Given the description of an element on the screen output the (x, y) to click on. 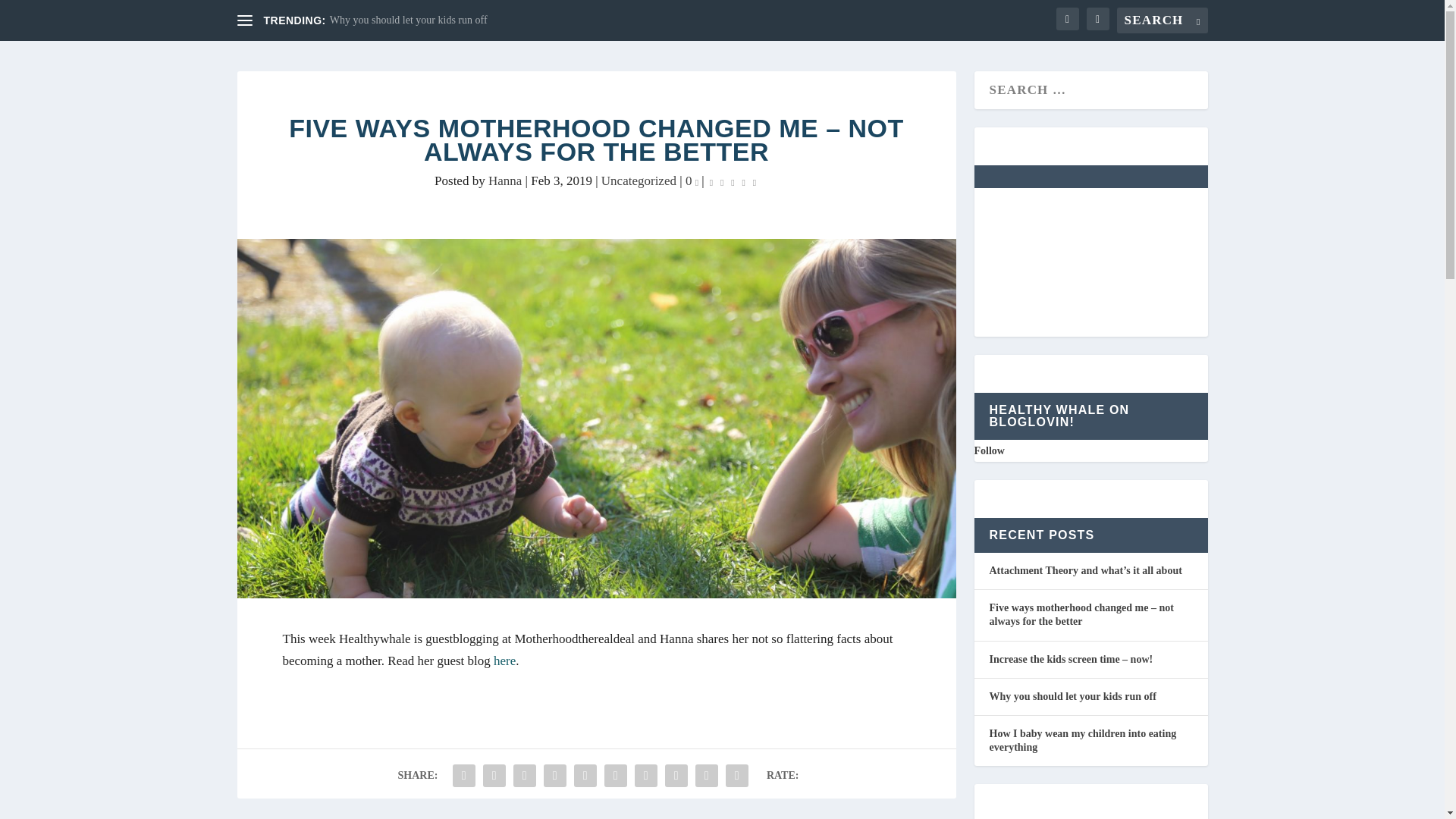
here (504, 660)
Uncategorized (639, 180)
Hanna (504, 180)
Posts by Hanna (504, 180)
Follow (989, 450)
Rating: 3.50 (732, 181)
0 (691, 180)
Why you should let your kids run off (408, 19)
Search (35, 15)
Search for: (1161, 20)
